Given the description of an element on the screen output the (x, y) to click on. 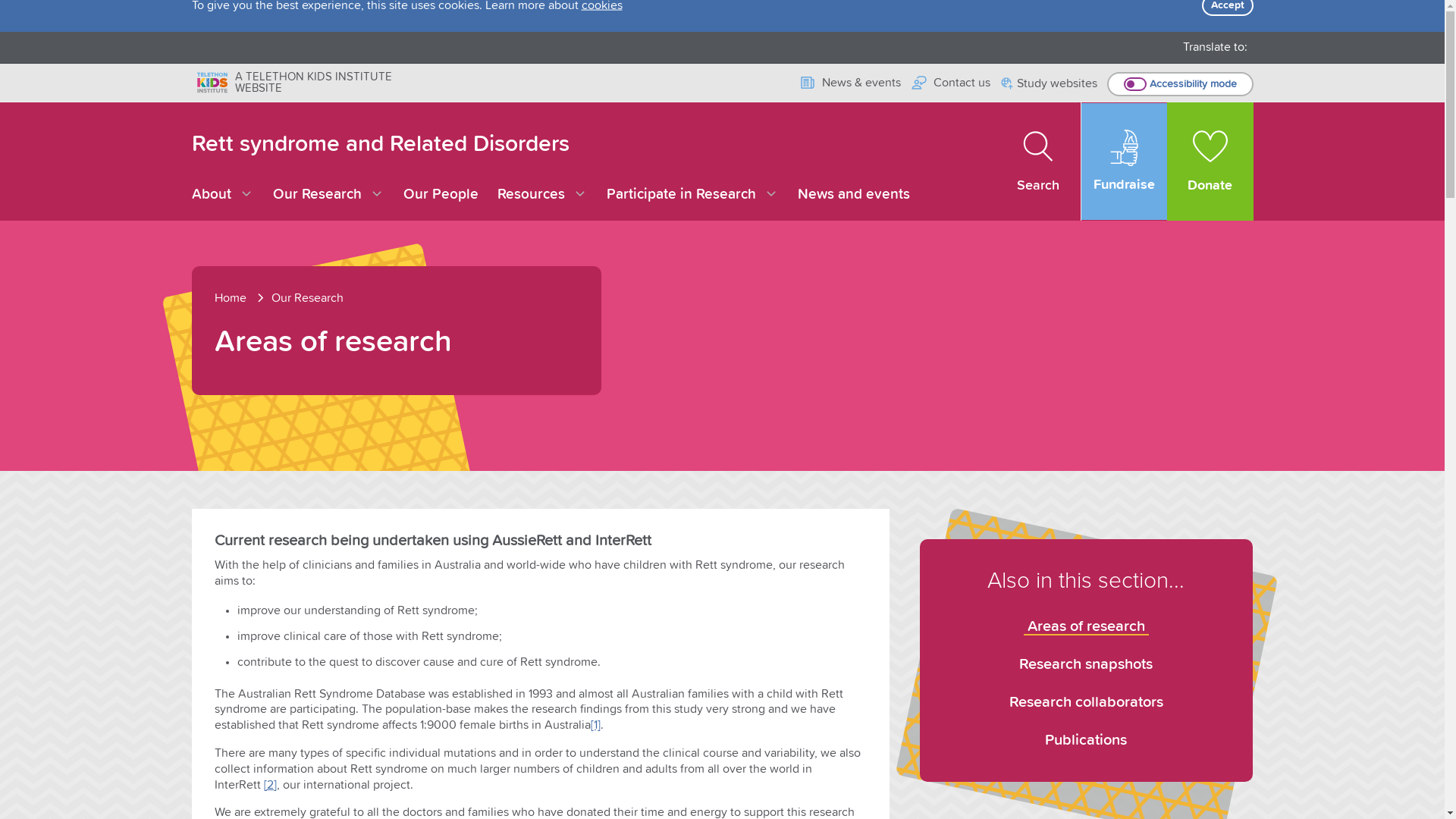
Research collaborators Element type: text (1085, 702)
Rett syndrome and Related Disorders Element type: text (379, 143)
Fundraise Element type: text (1124, 161)
News and events Element type: text (853, 194)
Donate Element type: text (1209, 161)
Study websites Element type: text (1049, 84)
[1] Element type: text (594, 724)
Search Element type: text (1038, 161)
Our Research Element type: text (307, 297)
Our People Element type: text (440, 194)
Accessibility mode Element type: text (1180, 84)
Contact us Element type: text (950, 82)
Publications Element type: text (1085, 740)
Research snapshots Element type: text (1085, 664)
News & events Element type: text (849, 82)
[2] Element type: text (269, 784)
About Element type: text (222, 194)
Resources Element type: text (542, 194)
Our Research Element type: text (328, 194)
tki-logo-final Element type: text (212, 81)
Participate in Research Element type: text (692, 194)
Home Element type: text (240, 297)
Areas of research Element type: text (1085, 623)
